Given the description of an element on the screen output the (x, y) to click on. 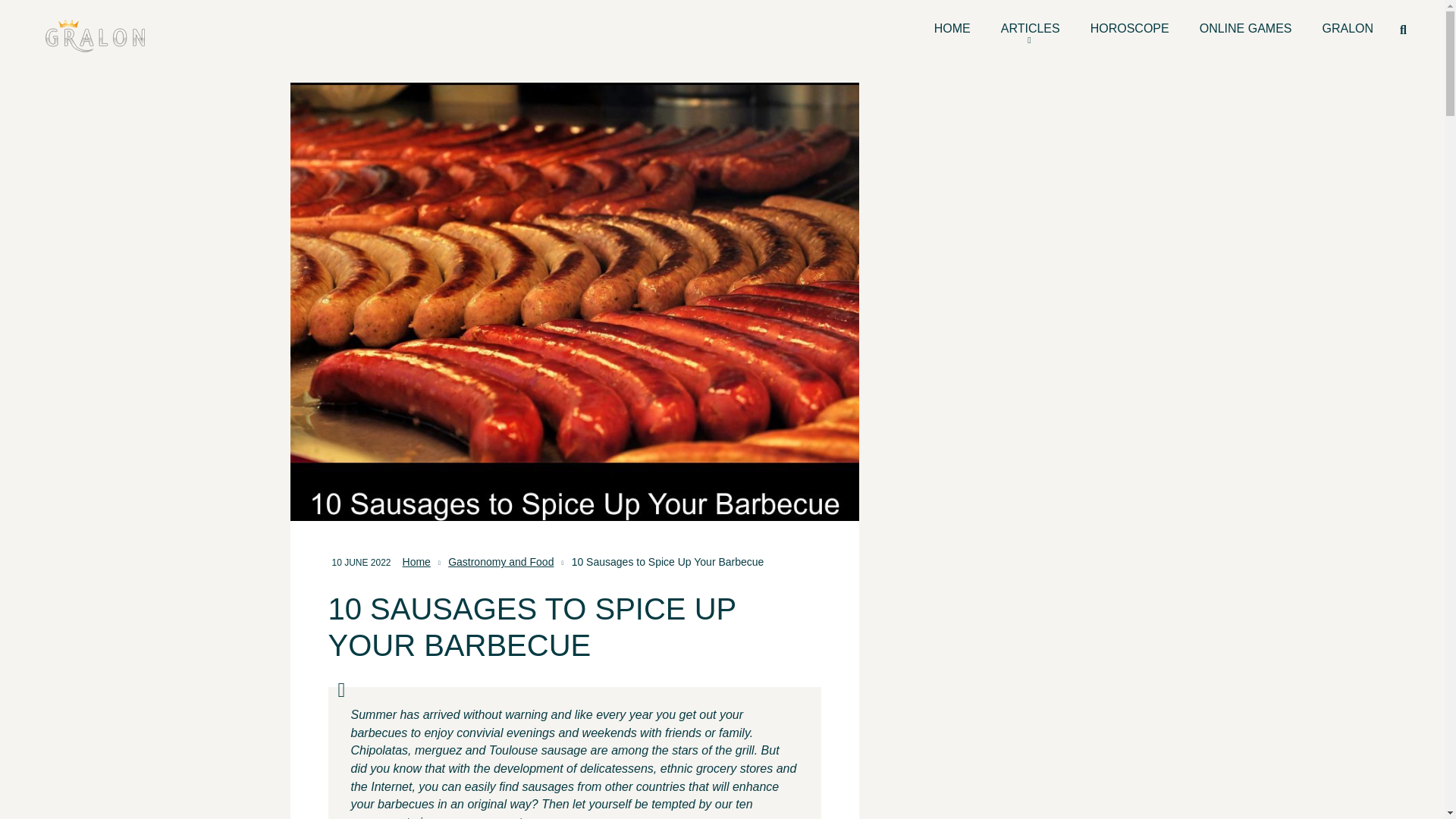
GRALON (1348, 28)
ONLINE GAMES (1246, 28)
HOME (951, 28)
HOROSCOPE (1130, 28)
ARTICLES (1030, 28)
